Given the description of an element on the screen output the (x, y) to click on. 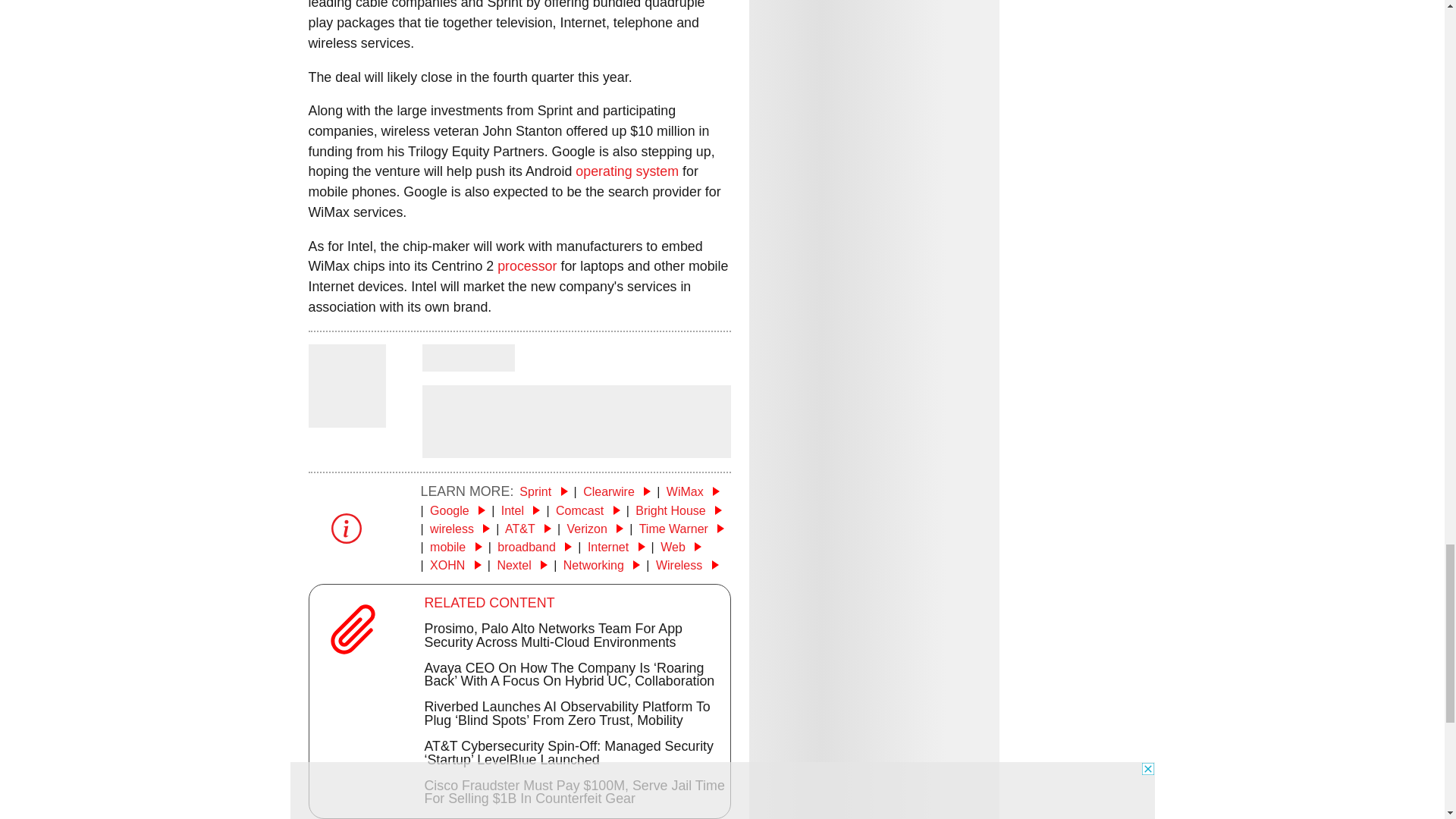
Google (456, 510)
Clearwire (616, 491)
Author Name (346, 417)
Author Name (467, 357)
Sprint (543, 491)
operating system (626, 171)
processor (526, 265)
WiMax (692, 491)
